Given the description of an element on the screen output the (x, y) to click on. 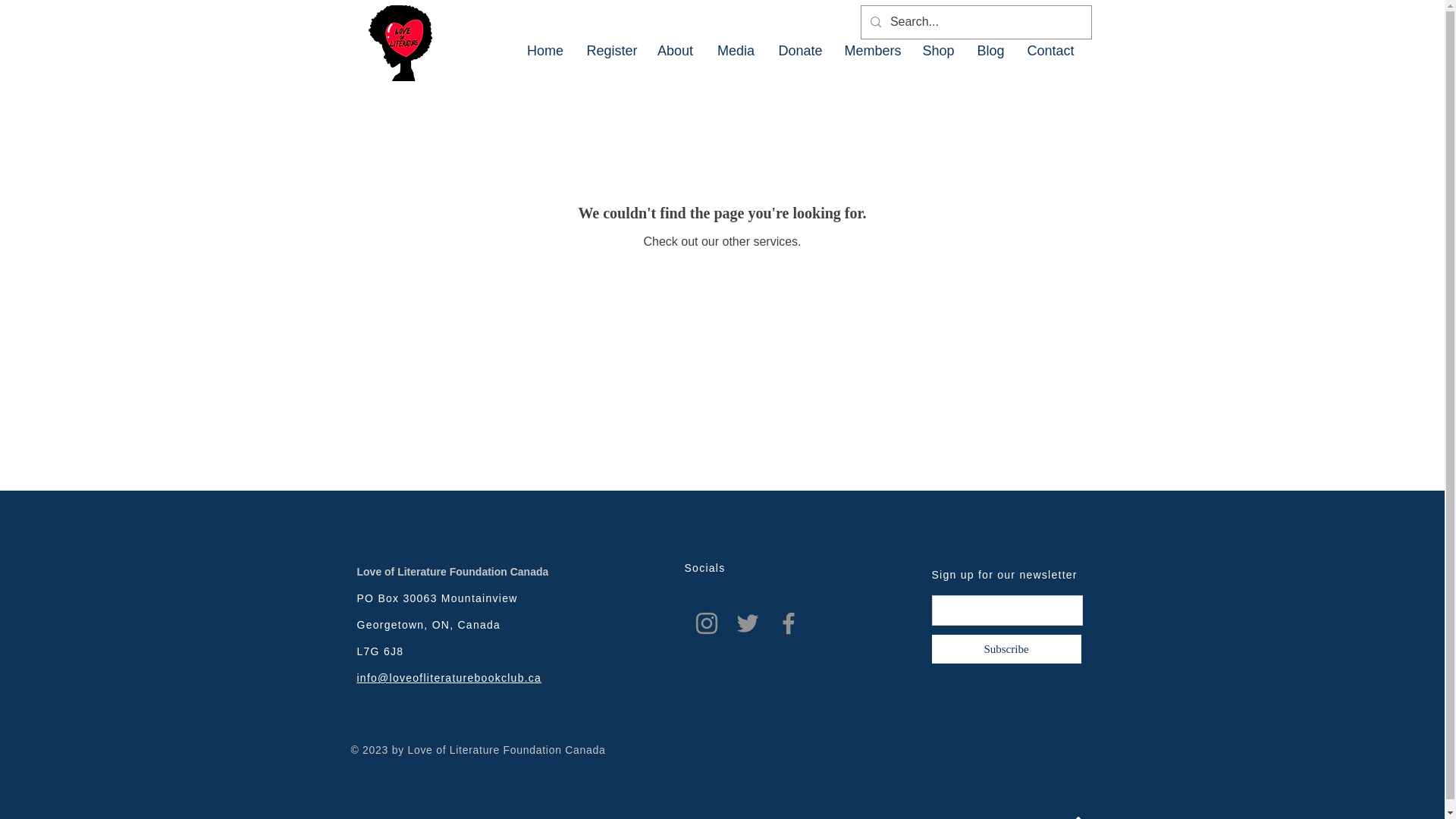
About (675, 50)
Members (871, 50)
Contact (1051, 50)
Donate (799, 50)
Subscribe (1006, 648)
Register (610, 50)
Home (545, 50)
Blog (991, 50)
Shop (938, 50)
logo full colour.jpg (398, 42)
